Given the description of an element on the screen output the (x, y) to click on. 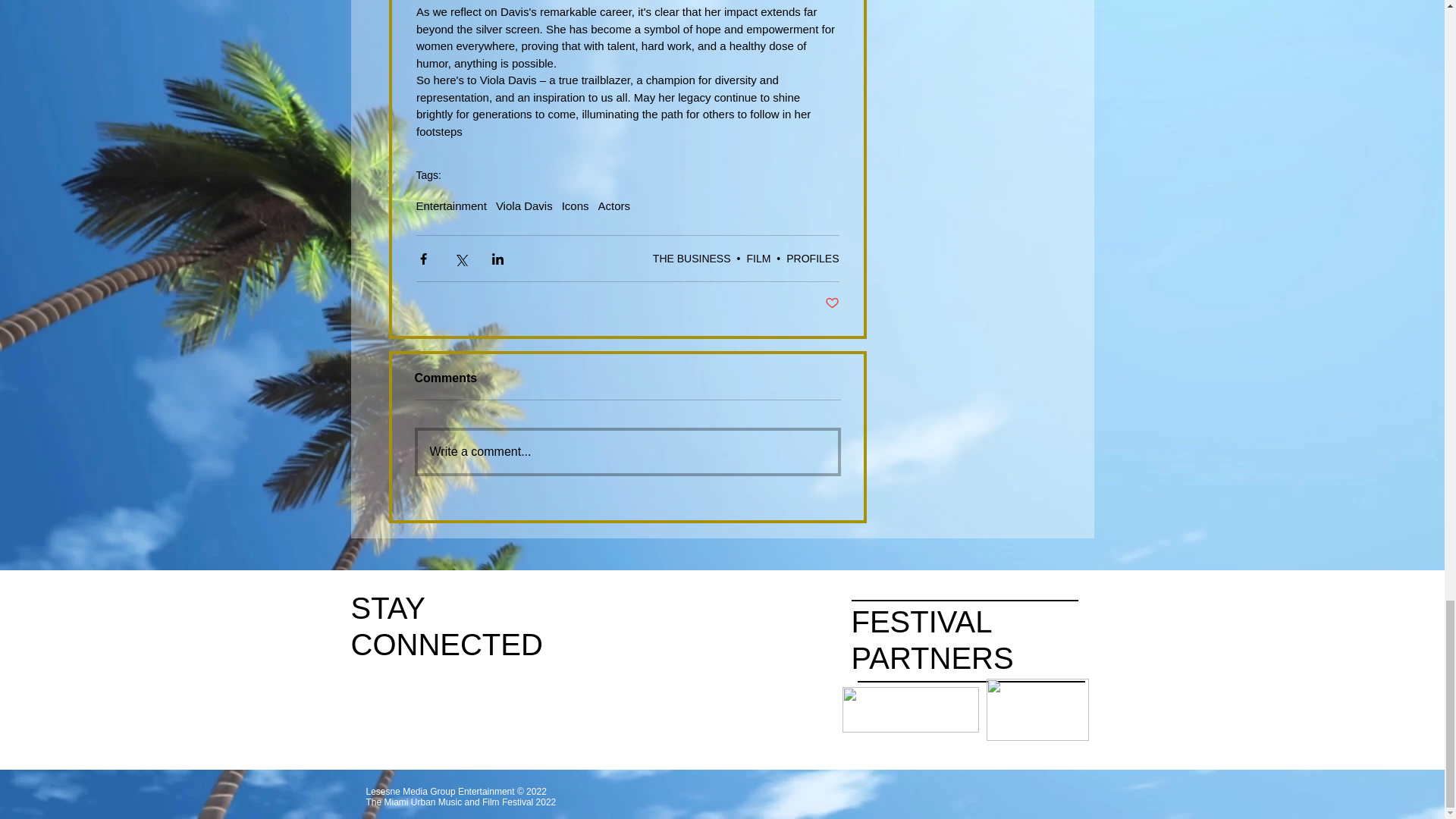
Actors (614, 205)
THE BUSINESS (691, 258)
FILM (757, 258)
MDC Blue PNG.png (1036, 709)
Viola Davis (524, 205)
Icons (575, 205)
Entertainment (450, 205)
Write a comment... (626, 451)
Post not marked as liked (832, 303)
PROFILES (812, 258)
LMG LOGO.png (909, 709)
